Given the description of an element on the screen output the (x, y) to click on. 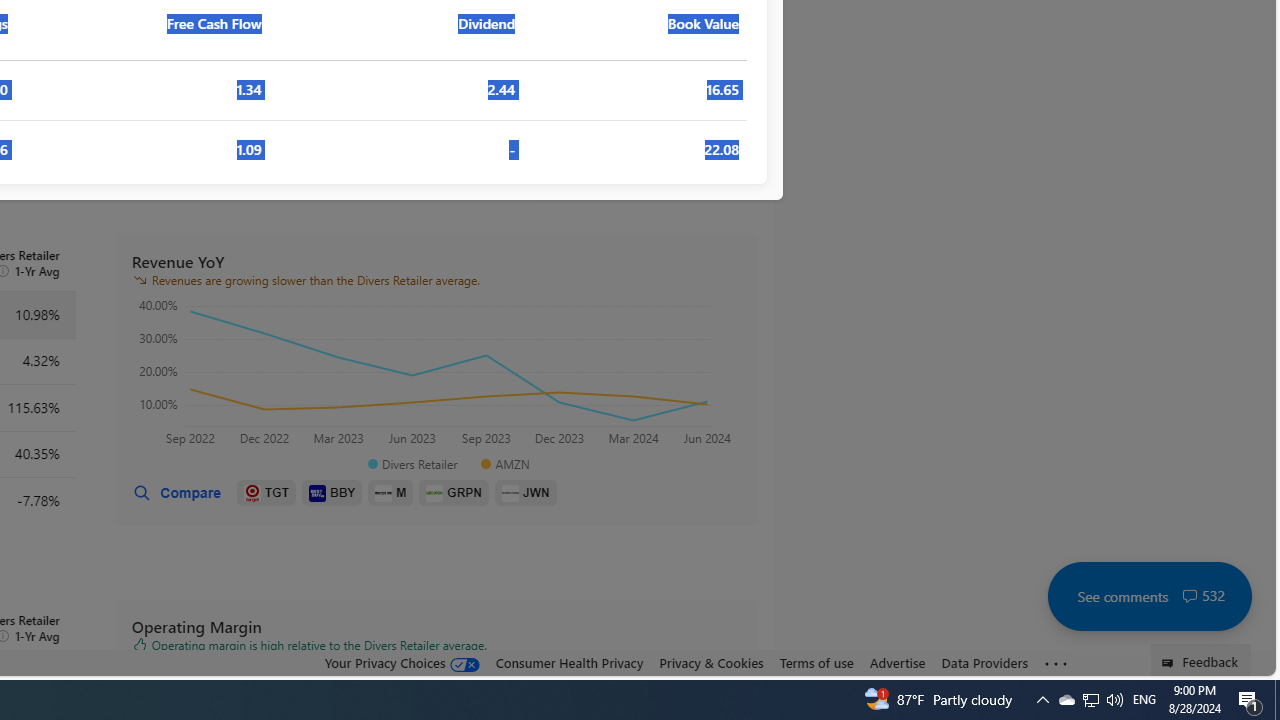
Data Providers (983, 662)
Terms of use (816, 662)
Class: feedback_link_icon-DS-EntryPoint1-1 (1170, 663)
Your Privacy Choices (401, 663)
BBY (332, 493)
Class: imagIcon-DS-EntryPoint1-1 (510, 492)
Consumer Health Privacy (569, 662)
Your Privacy Choices (401, 662)
Compare (175, 493)
Data Providers (983, 663)
